Given the description of an element on the screen output the (x, y) to click on. 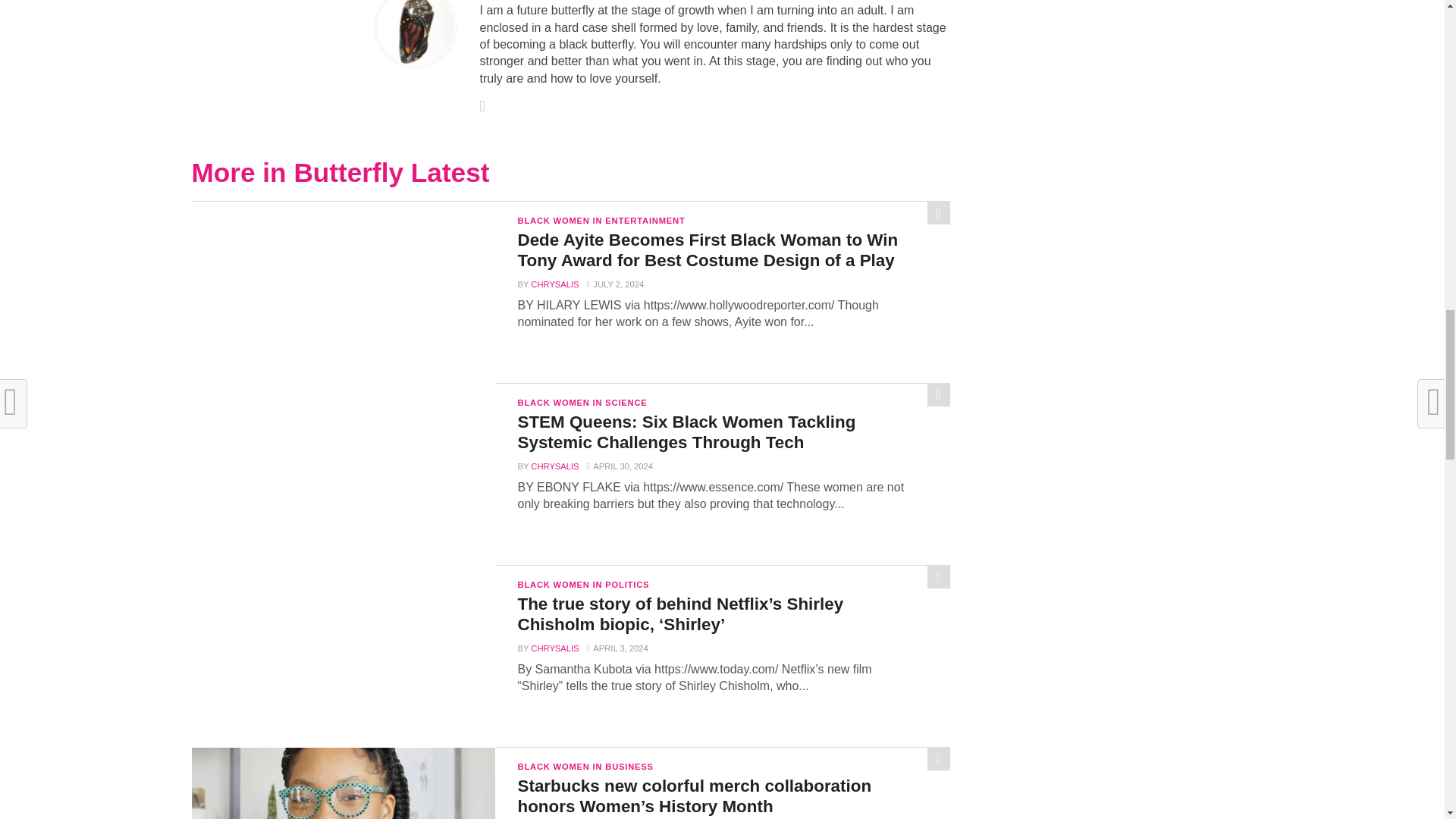
Posts by Chrysalis (554, 284)
Posts by Chrysalis (554, 465)
